Given the description of an element on the screen output the (x, y) to click on. 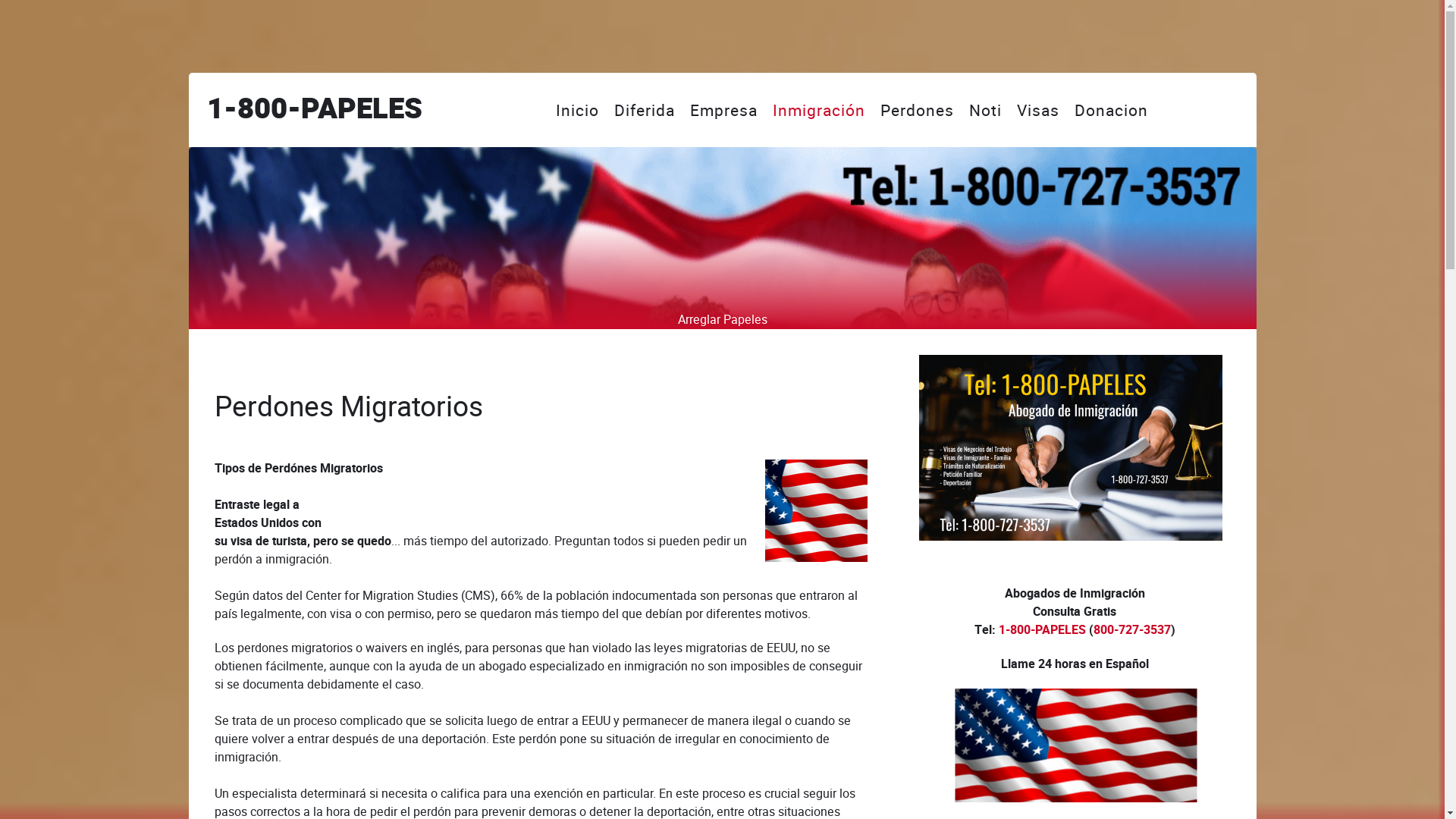
Empresa Element type: text (723, 109)
Donacion Element type: text (1111, 109)
Inicio Element type: text (577, 109)
1-800-PAPELES Element type: text (1041, 630)
Visas Element type: text (1037, 109)
1-800-PAPELES Element type: text (313, 109)
Diferida Element type: text (644, 109)
Noti Element type: text (985, 109)
Perdones Element type: text (917, 109)
800-727-3537 Element type: text (1131, 630)
Perdones Migratorios Element type: text (347, 406)
